Given the description of an element on the screen output the (x, y) to click on. 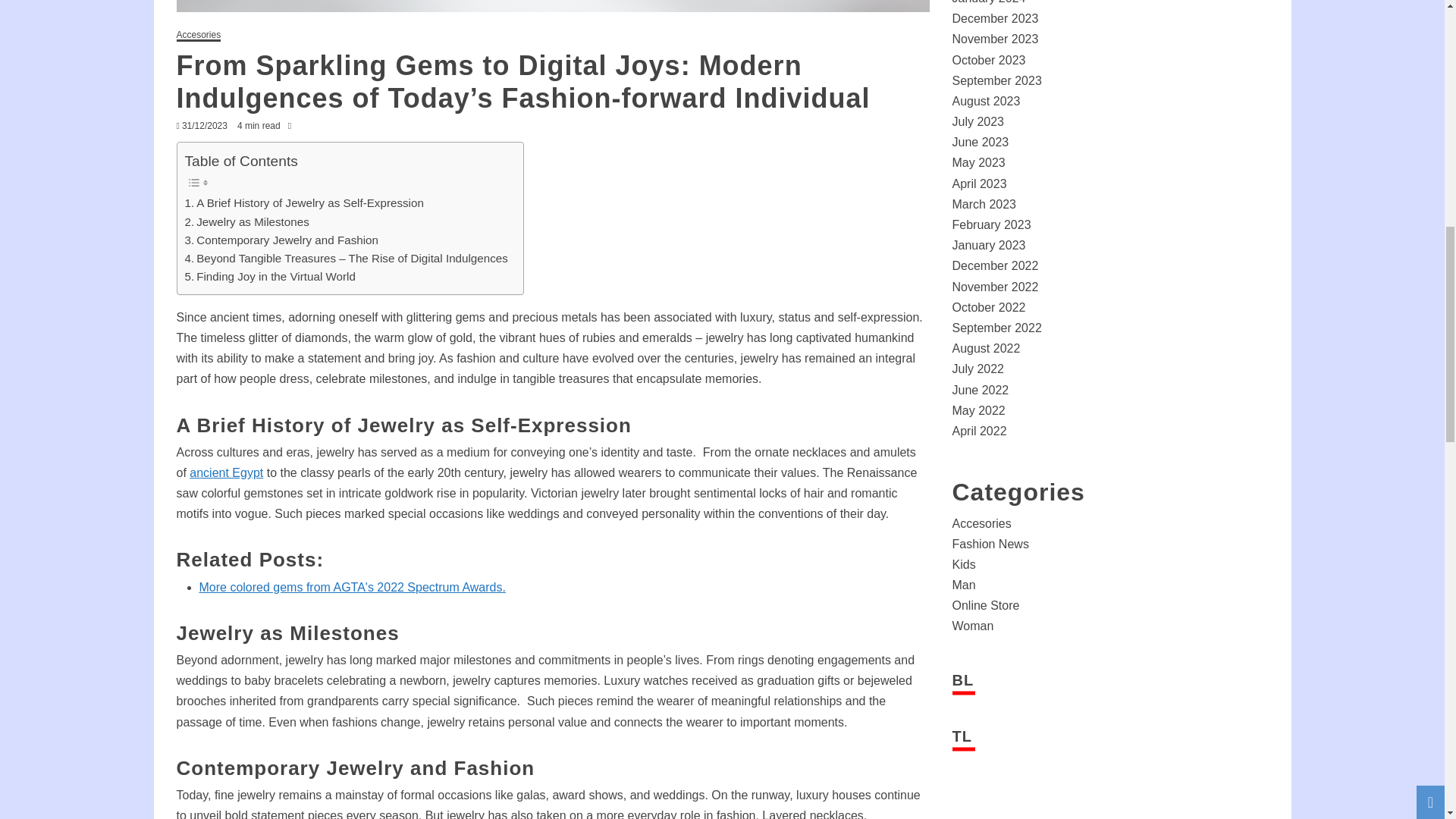
More colored gems from AGTA's 2022 Spectrum Awards. (351, 586)
Contemporary Jewelry and Fashion (281, 239)
A Brief History of Jewelry as Self-Expression (303, 203)
Finding Joy in the Virtual World (269, 276)
Jewelry as Milestones (246, 221)
Accesories (198, 35)
A Brief History of Jewelry as Self-Expression (303, 203)
Contemporary Jewelry and Fashion (281, 239)
Finding Joy in the Virtual World (269, 276)
ancient Egypt (226, 472)
